Given the description of an element on the screen output the (x, y) to click on. 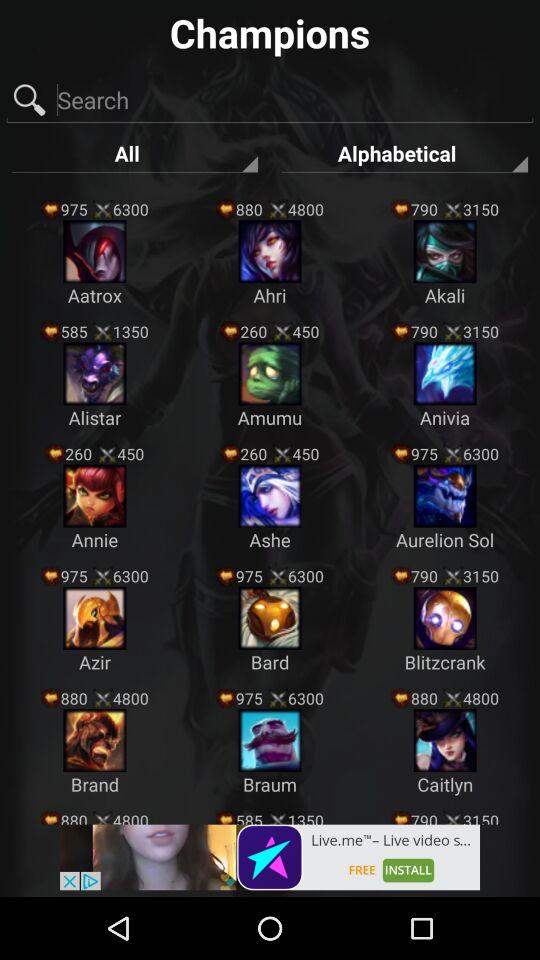
enter search field (269, 100)
